Given the description of an element on the screen output the (x, y) to click on. 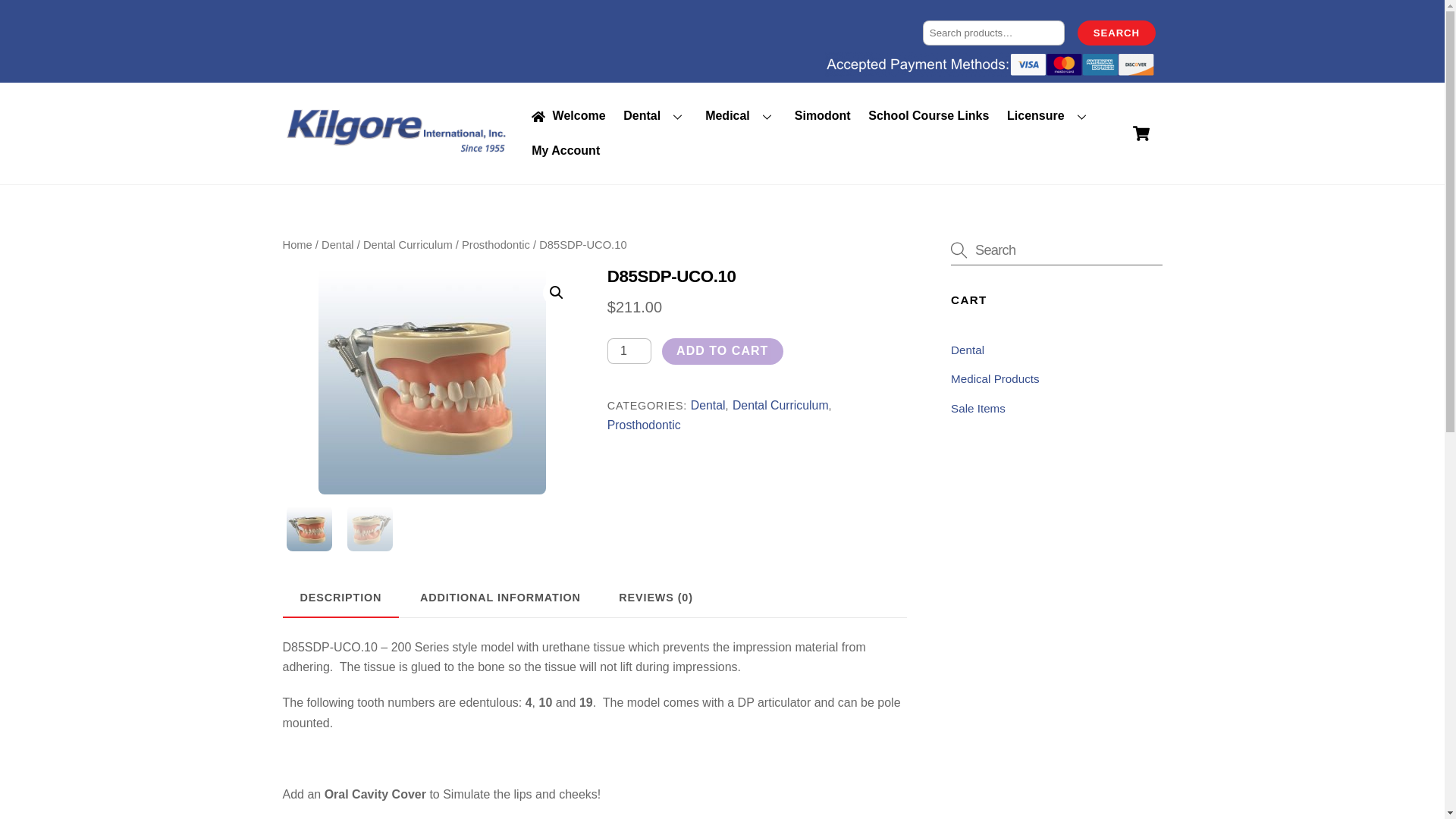
Search (1055, 249)
Medical (741, 116)
My Account (565, 150)
Simodont (822, 116)
School Course Links (928, 116)
Kilgore International. Inc (395, 148)
1 (628, 350)
Cart (1140, 132)
SEARCH (1116, 32)
Licensure (1047, 116)
